Given the description of an element on the screen output the (x, y) to click on. 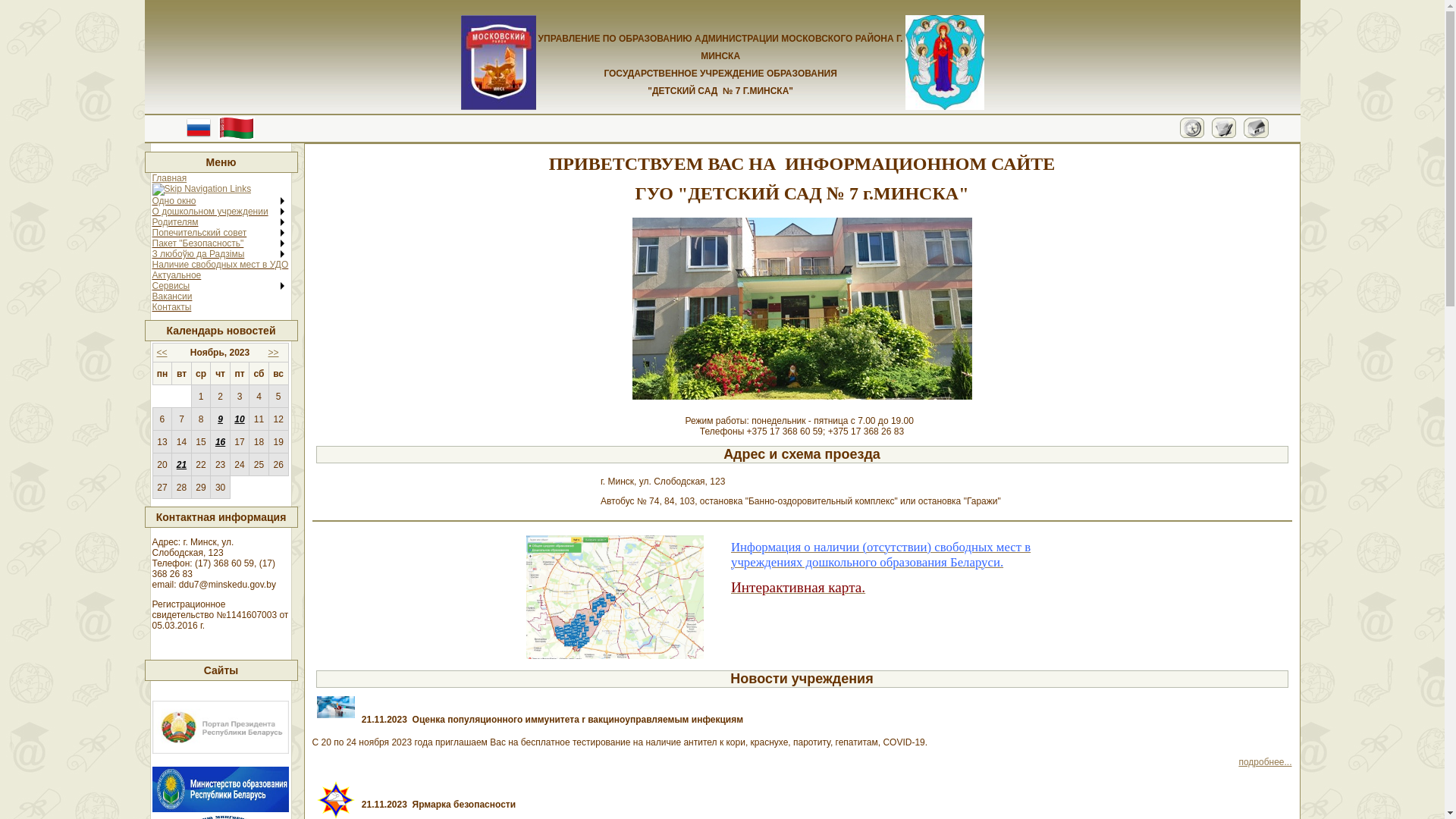
21 Element type: text (181, 464)
10 Element type: text (239, 419)
9 Element type: text (219, 419)
<< Element type: text (163, 352)
16 Element type: text (220, 441)
>> Element type: text (275, 352)
